Given the description of an element on the screen output the (x, y) to click on. 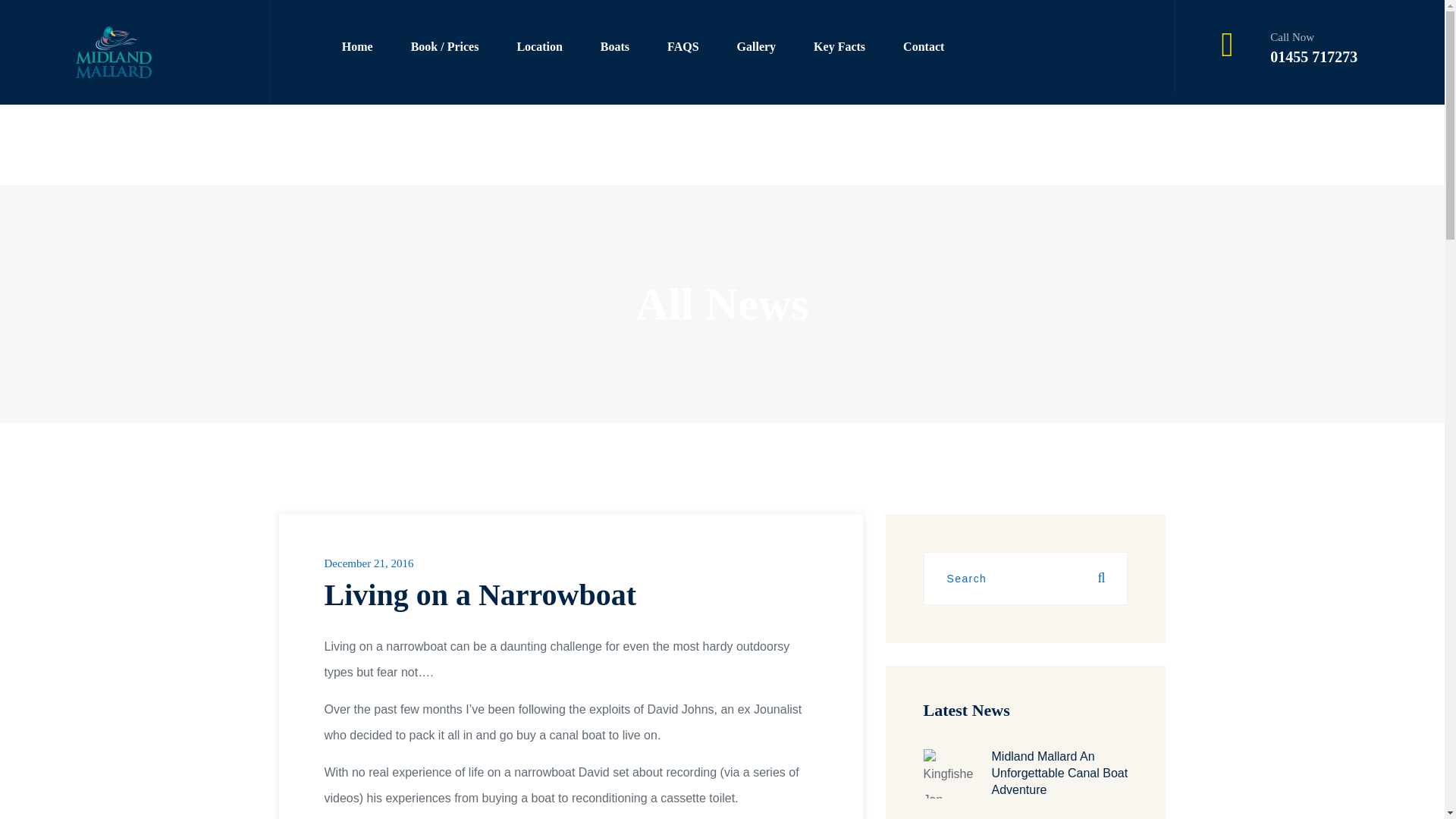
Gallery (756, 46)
Location-Market Bosworth (539, 46)
Home (357, 46)
FAQS (683, 46)
Key Facts (839, 46)
01455 717273 (1312, 55)
Home (357, 46)
Canal Boat Holidays on the Ashby Canal with Midland Mallard  (756, 46)
Key Facts (839, 46)
Location (539, 46)
